Given the description of an element on the screen output the (x, y) to click on. 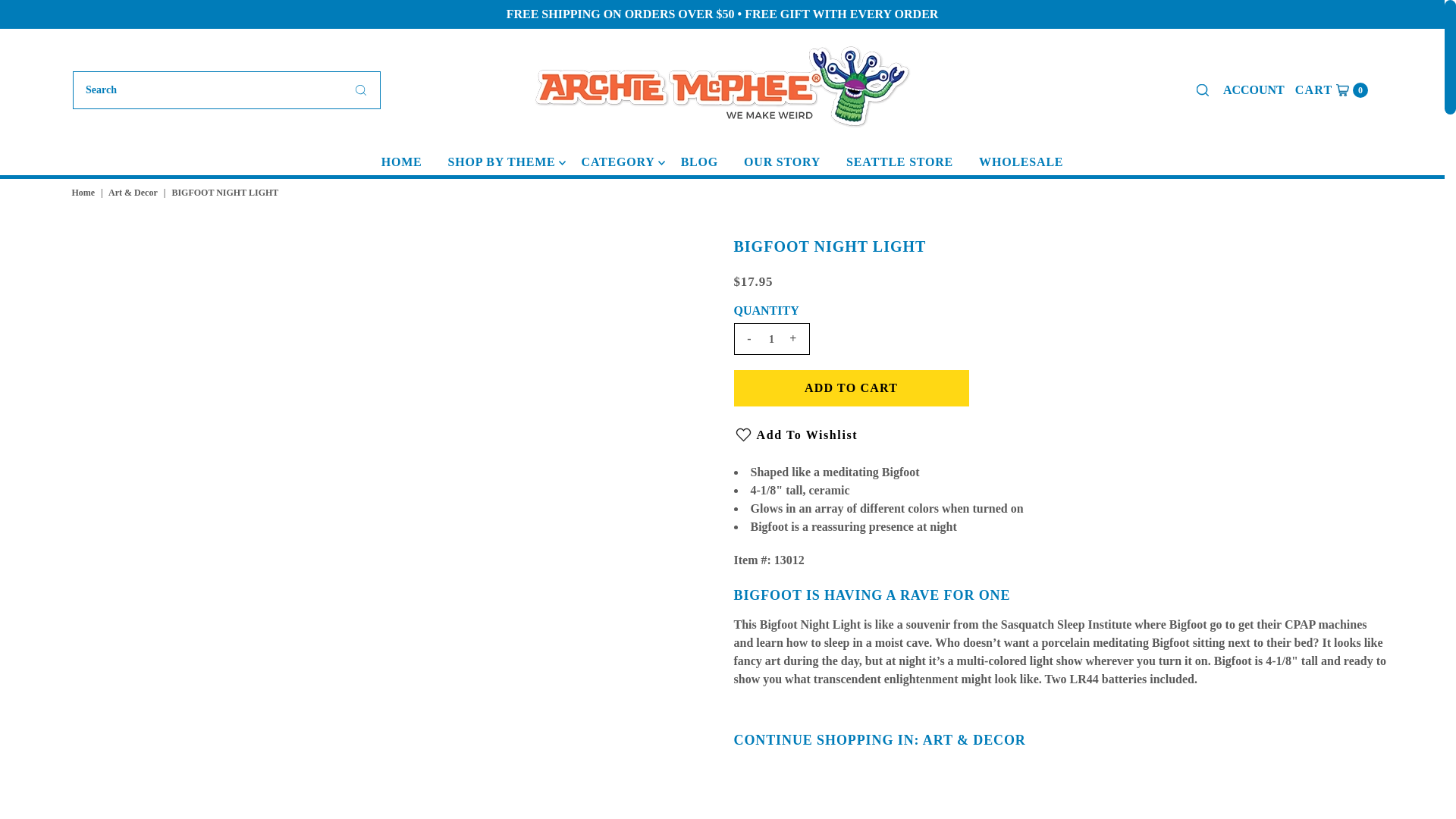
Add to Cart (851, 388)
Home (85, 192)
